Given the description of an element on the screen output the (x, y) to click on. 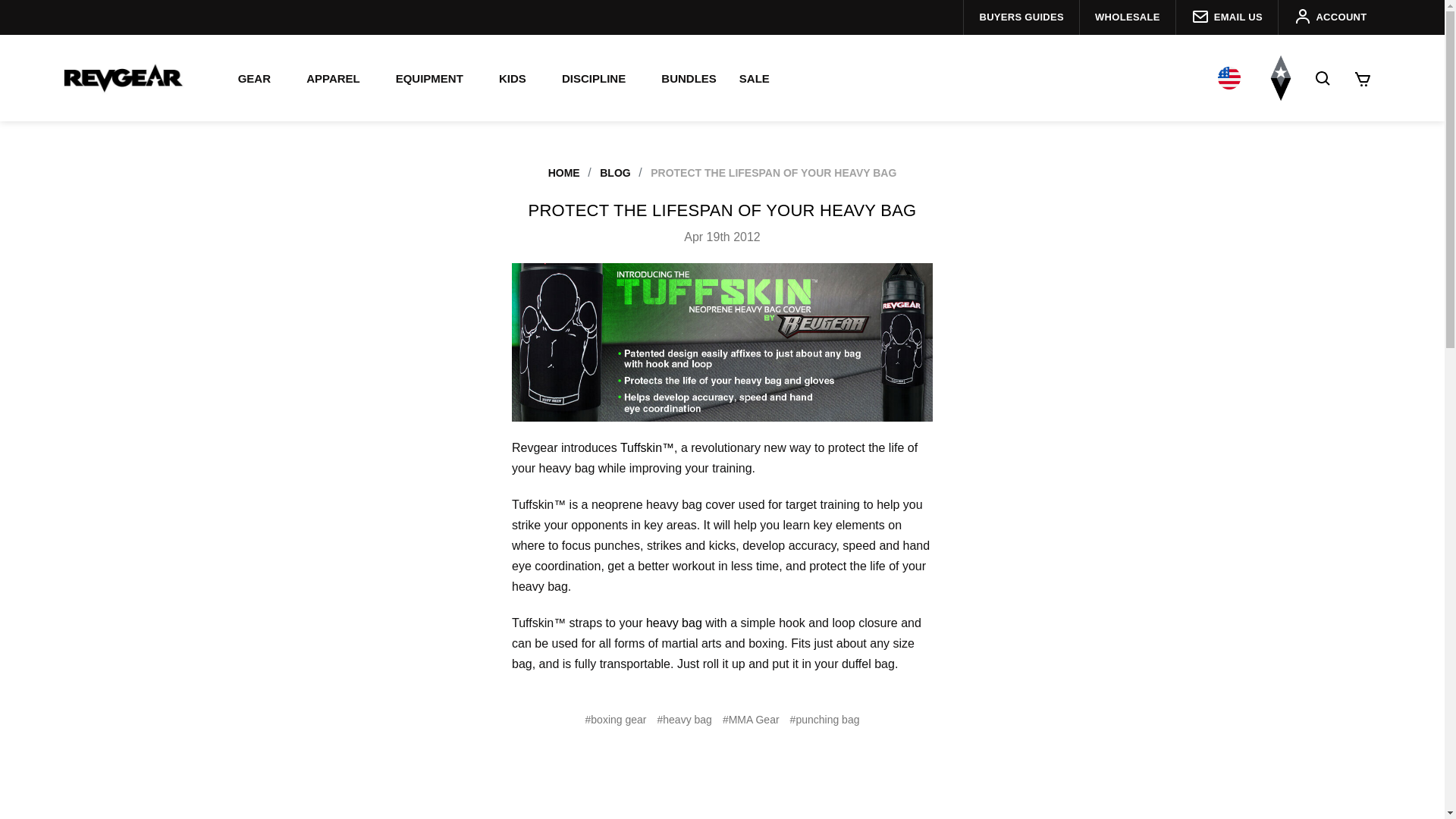
Revgear (122, 77)
APPAREL (339, 78)
GEAR (261, 78)
WHOLESALE (1126, 17)
EQUIPMENT (435, 78)
EMAIL US (1226, 17)
KIDS (518, 78)
ACCOUNT (1329, 17)
BUYERS GUIDES (1020, 17)
DISCIPLINE (599, 78)
